Given the description of an element on the screen output the (x, y) to click on. 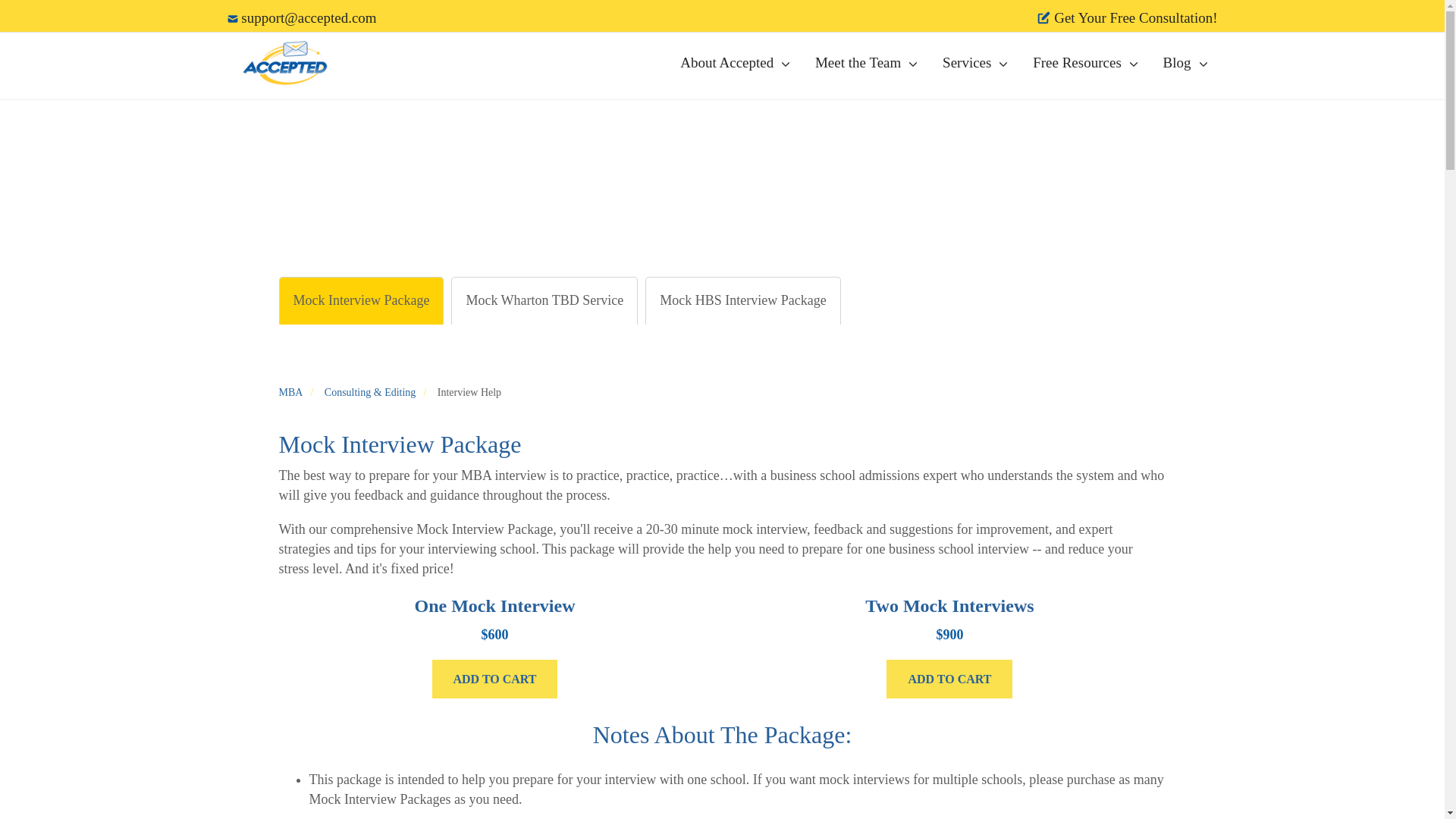
Meet the Team (858, 62)
About Accepted (726, 62)
Services (966, 62)
ACCEPTED (288, 62)
Get Your Free Consultation! (1126, 17)
